Given the description of an element on the screen output the (x, y) to click on. 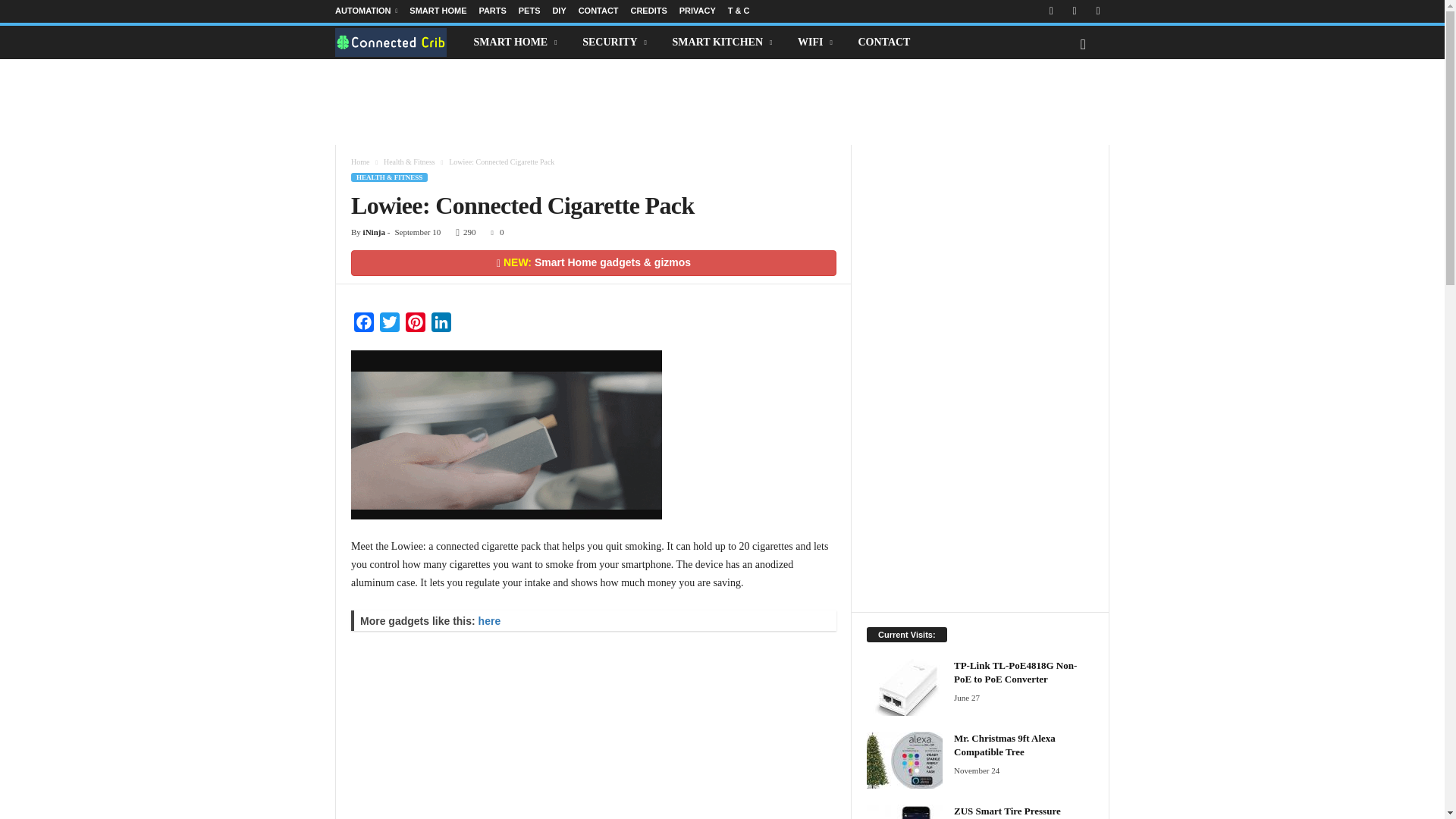
DIY (558, 10)
CREDITS (648, 10)
AUTOMATION (365, 10)
SMART HOME (437, 10)
Connected Crib (398, 42)
CONTACT (598, 10)
PRIVACY (697, 10)
SMART HOME (517, 41)
PARTS (492, 10)
PETS (529, 10)
